Given the description of an element on the screen output the (x, y) to click on. 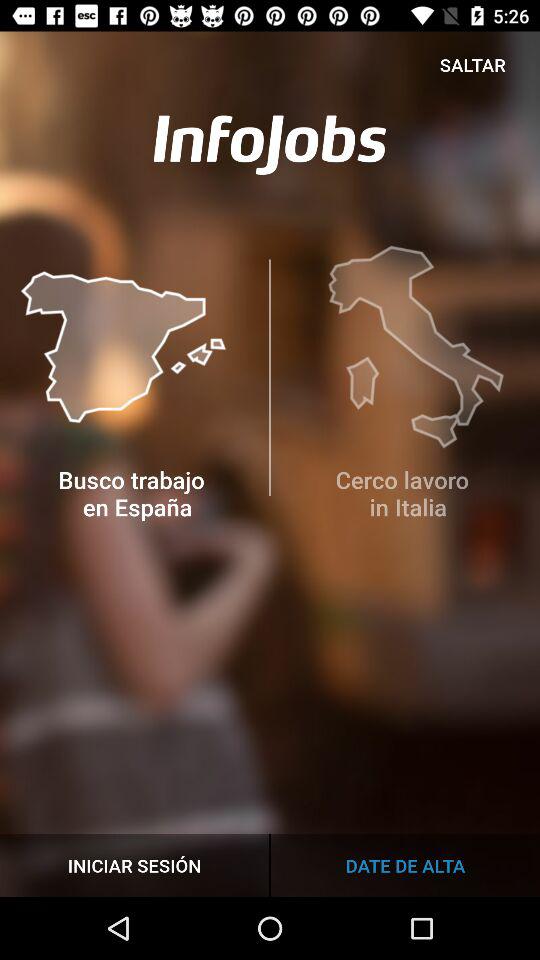
launch item below the busco trabajo en (134, 864)
